Given the description of an element on the screen output the (x, y) to click on. 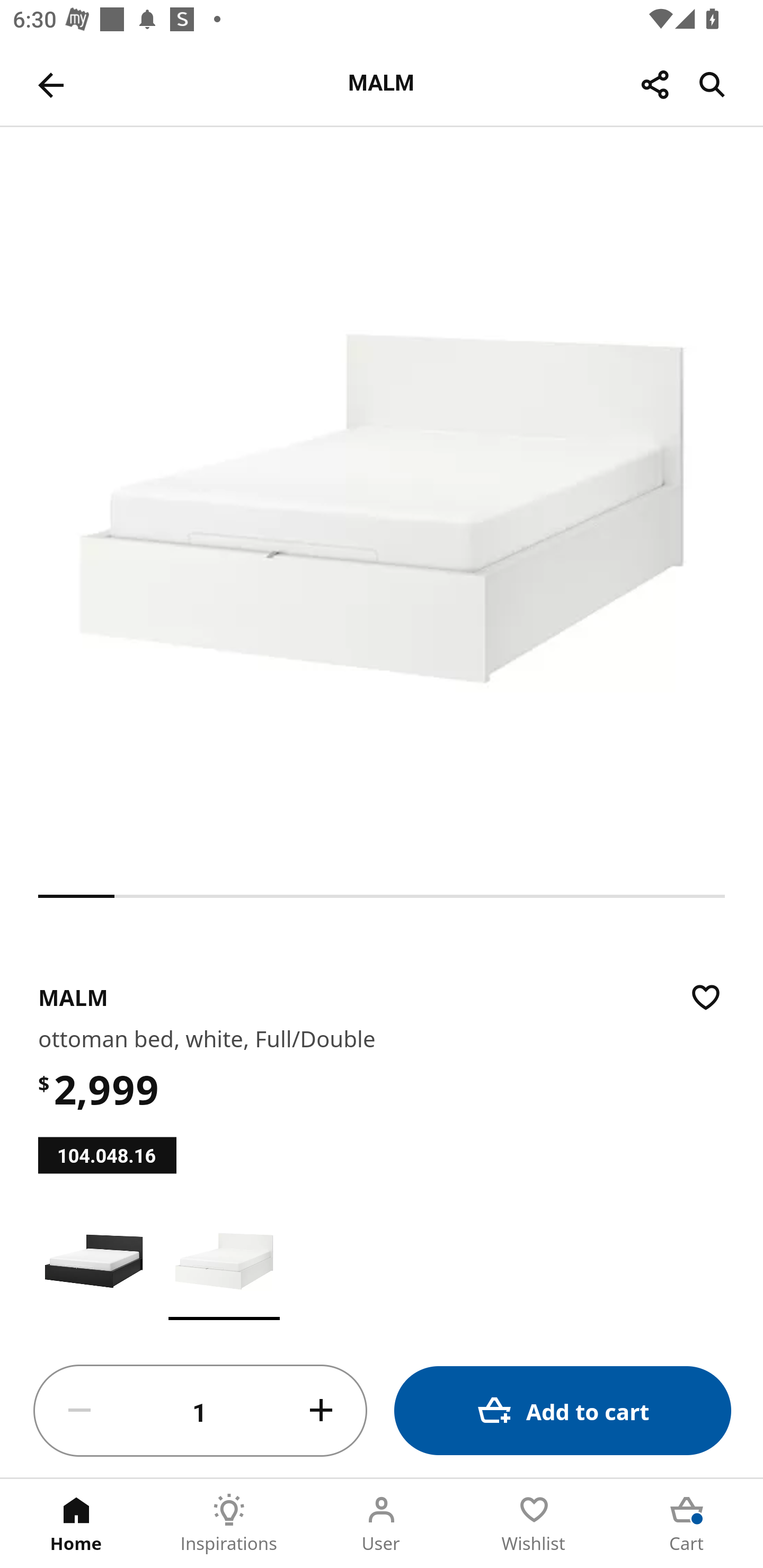
Add to cart (562, 1410)
1 (200, 1411)
Home
Tab 1 of 5 (76, 1522)
Inspirations
Tab 2 of 5 (228, 1522)
User
Tab 3 of 5 (381, 1522)
Wishlist
Tab 4 of 5 (533, 1522)
Cart
Tab 5 of 5 (686, 1522)
